Given the description of an element on the screen output the (x, y) to click on. 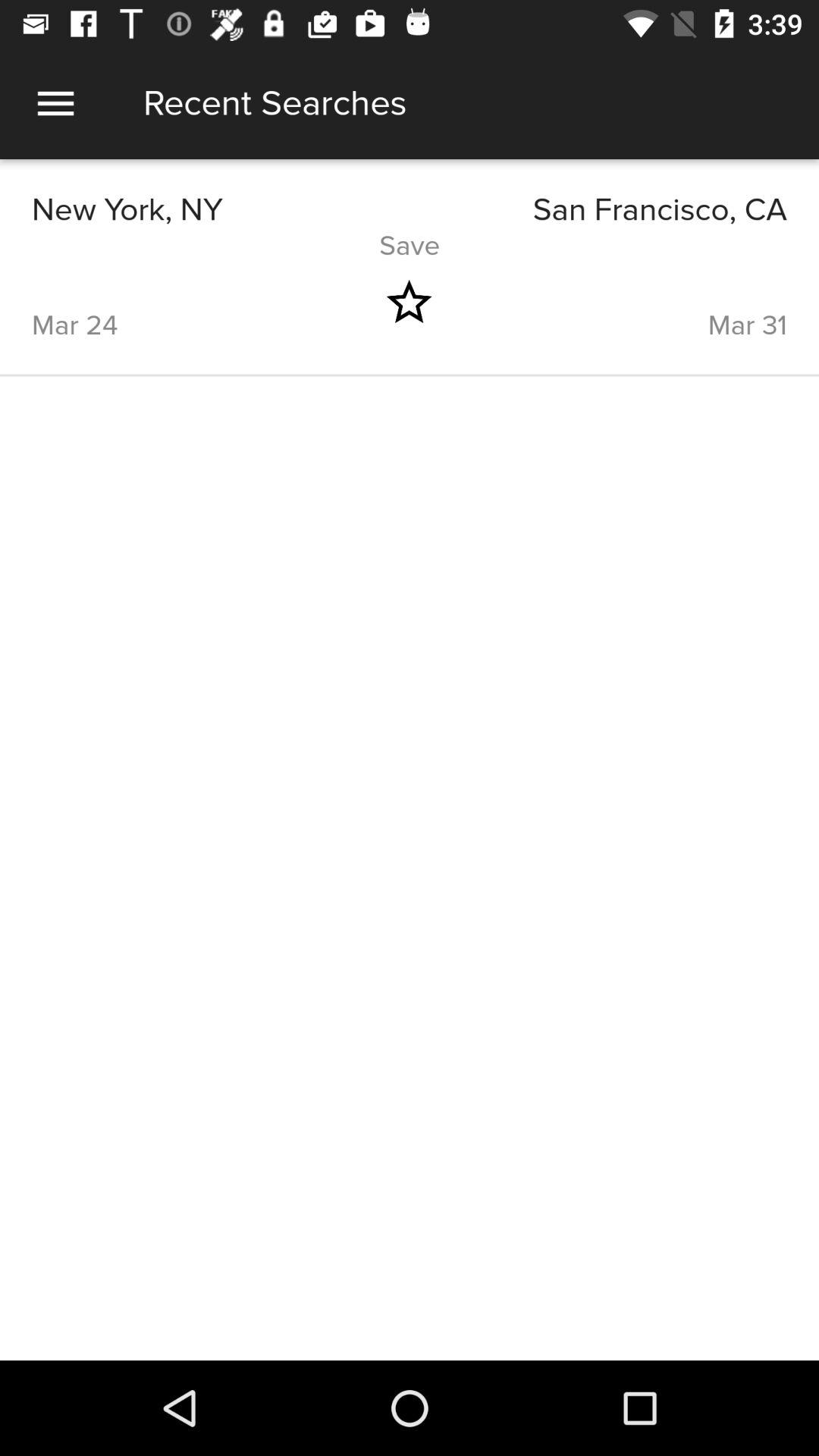
press item next to the san francisco, ca icon (220, 210)
